Given the description of an element on the screen output the (x, y) to click on. 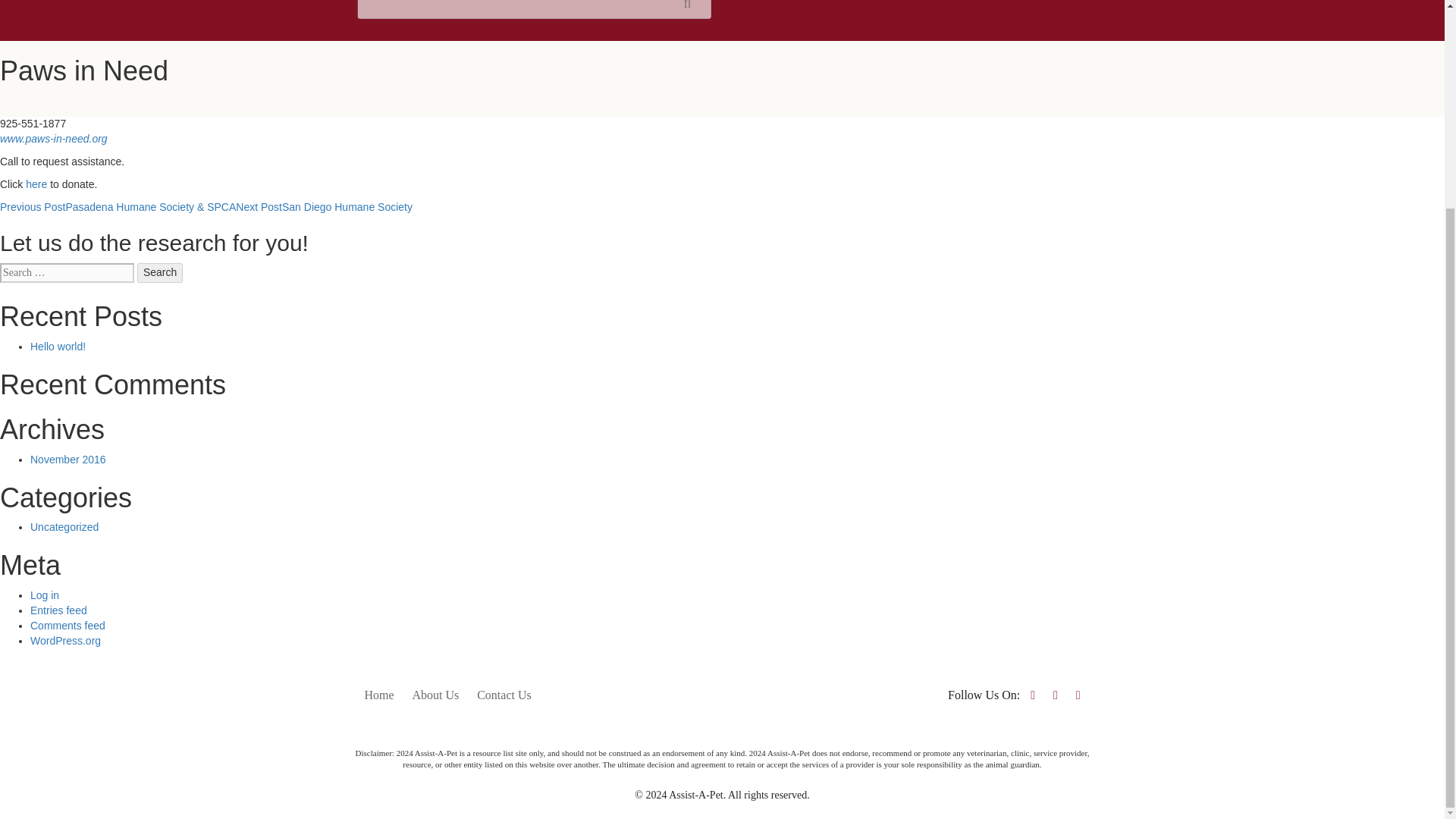
Next PostSan Diego Humane Society (323, 206)
Home (378, 694)
Uncategorized (64, 526)
Contact Us (503, 694)
www.paws-in-need.org (53, 138)
Search (159, 272)
Log in (44, 594)
Search (159, 272)
WordPress.org (65, 640)
Comments feed (67, 625)
November 2016 (68, 459)
Search (159, 272)
here (37, 184)
About Us (435, 694)
Hello world! (57, 346)
